Given the description of an element on the screen output the (x, y) to click on. 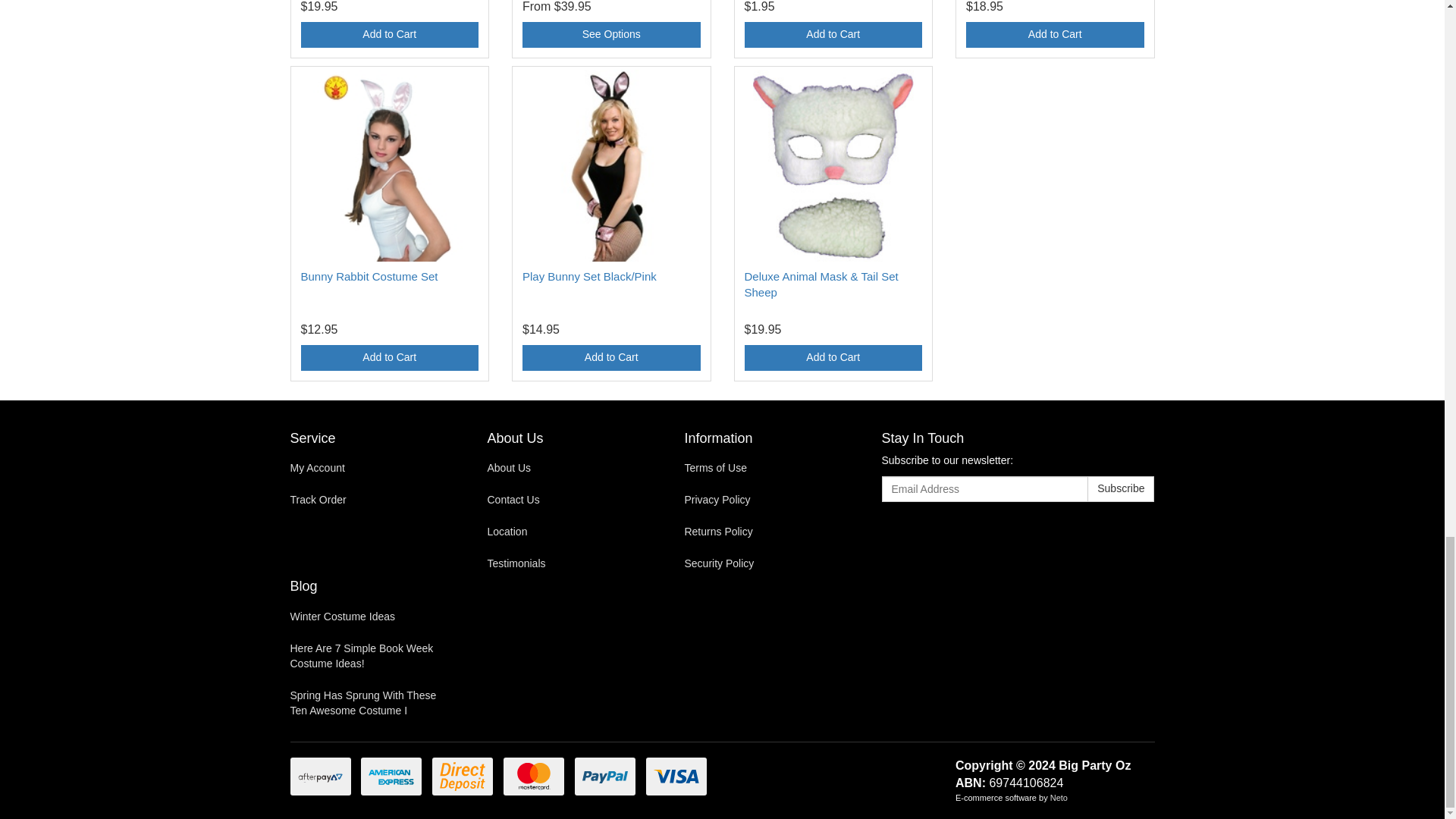
Add to Cart (611, 357)
Add to Cart (389, 34)
Add to Cart (1055, 34)
Buying Options (611, 34)
Add to Cart (833, 357)
Bunny Rabbit Costume Set (368, 276)
Subscribe (1120, 488)
Add to Cart (833, 34)
Add to Cart (389, 357)
